Given the description of an element on the screen output the (x, y) to click on. 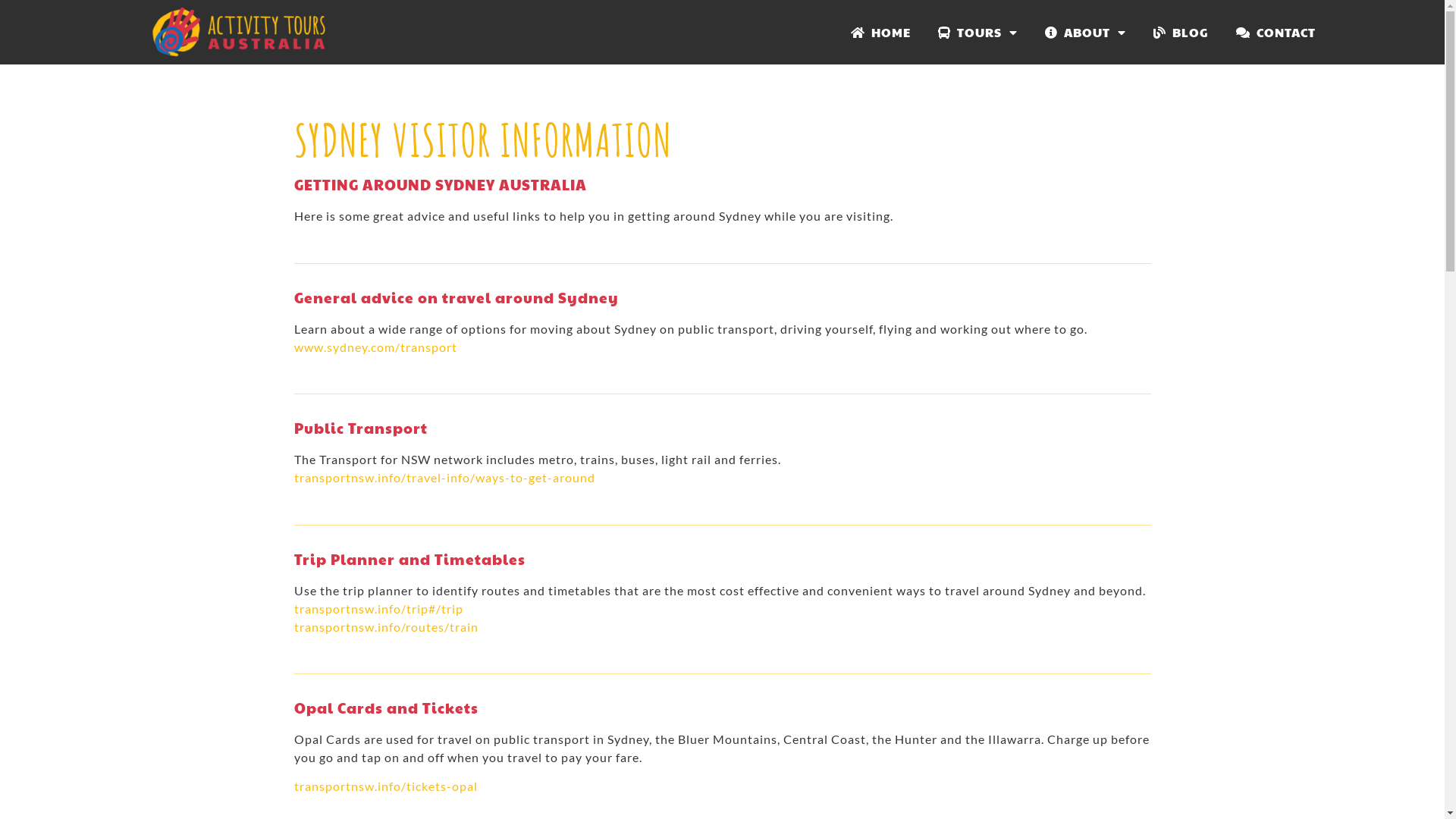
www.sydney.com/transport Element type: text (375, 346)
transportnsw.info/trip#/trip Element type: text (378, 608)
  TOURS Element type: text (977, 32)
  ABOUT Element type: text (1085, 32)
  HOME Element type: text (880, 32)
transportnsw.info/routes/train Element type: text (386, 626)
  BLOG Element type: text (1180, 32)
  CONTACT Element type: text (1275, 32)
transportnsw.info/travel-info/ways-to-get-around Element type: text (444, 477)
transportnsw.info/tickets-opal Element type: text (385, 785)
